Given the description of an element on the screen output the (x, y) to click on. 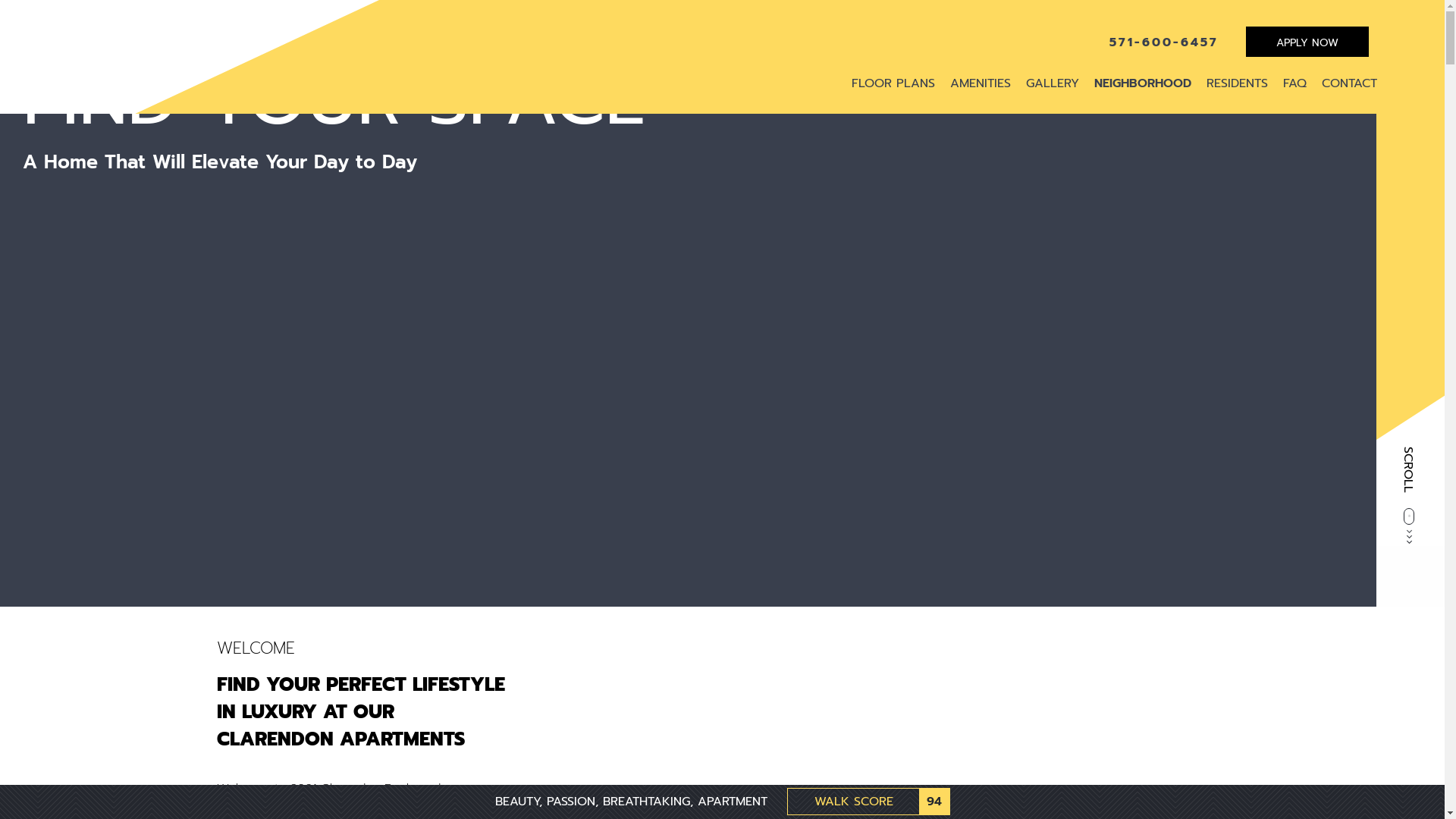
571-600-6457 Element type: text (1163, 42)
Instagram Element type: hover (1410, 161)
Home Element type: hover (196, 44)
NEIGHBORHOOD Element type: text (1142, 83)
APPLY NOW Element type: text (1306, 41)
Facebook Element type: hover (1410, 102)
AMENITIES Element type: text (980, 83)
GALLERY Element type: text (1052, 83)
RESIDENTS Element type: text (1236, 83)
CONTACT Element type: text (1349, 83)
FAQ Element type: text (1294, 83)
Video Player Element type: hover (688, 387)
FLOOR PLANS Element type: text (893, 83)
